Given the description of an element on the screen output the (x, y) to click on. 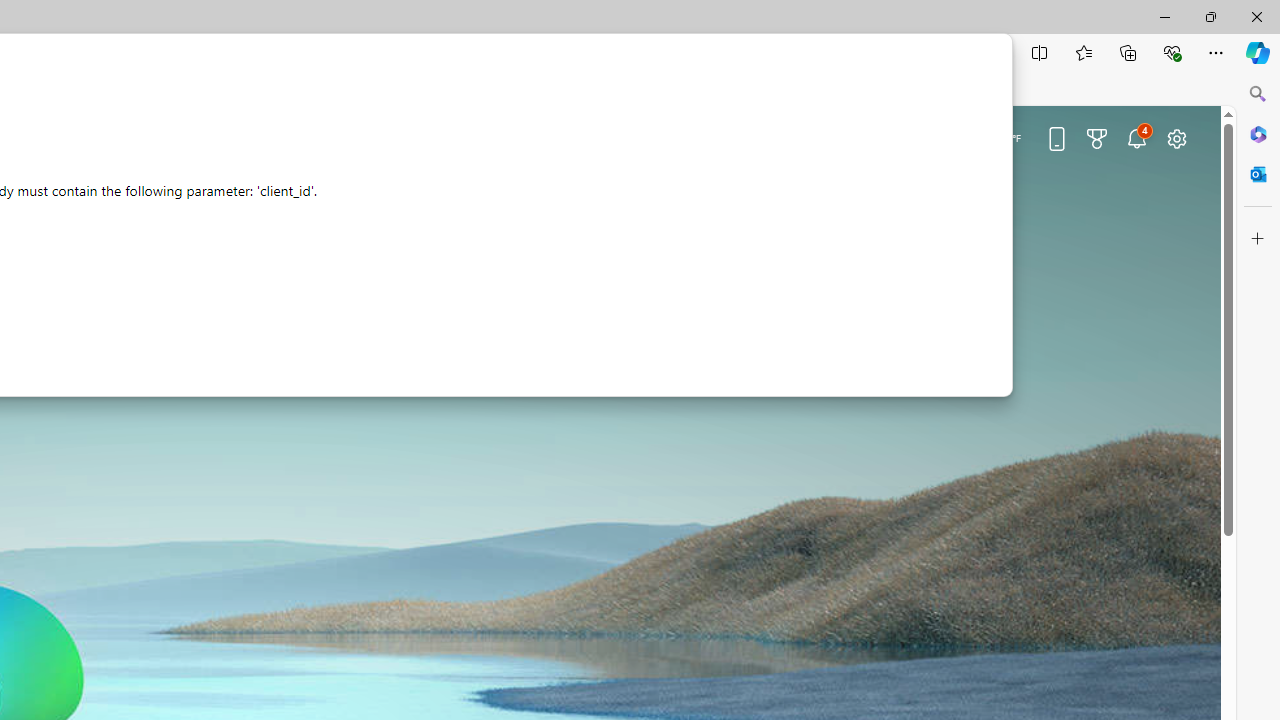
More Options (259, 320)
Page settings (1176, 138)
